Given the description of an element on the screen output the (x, y) to click on. 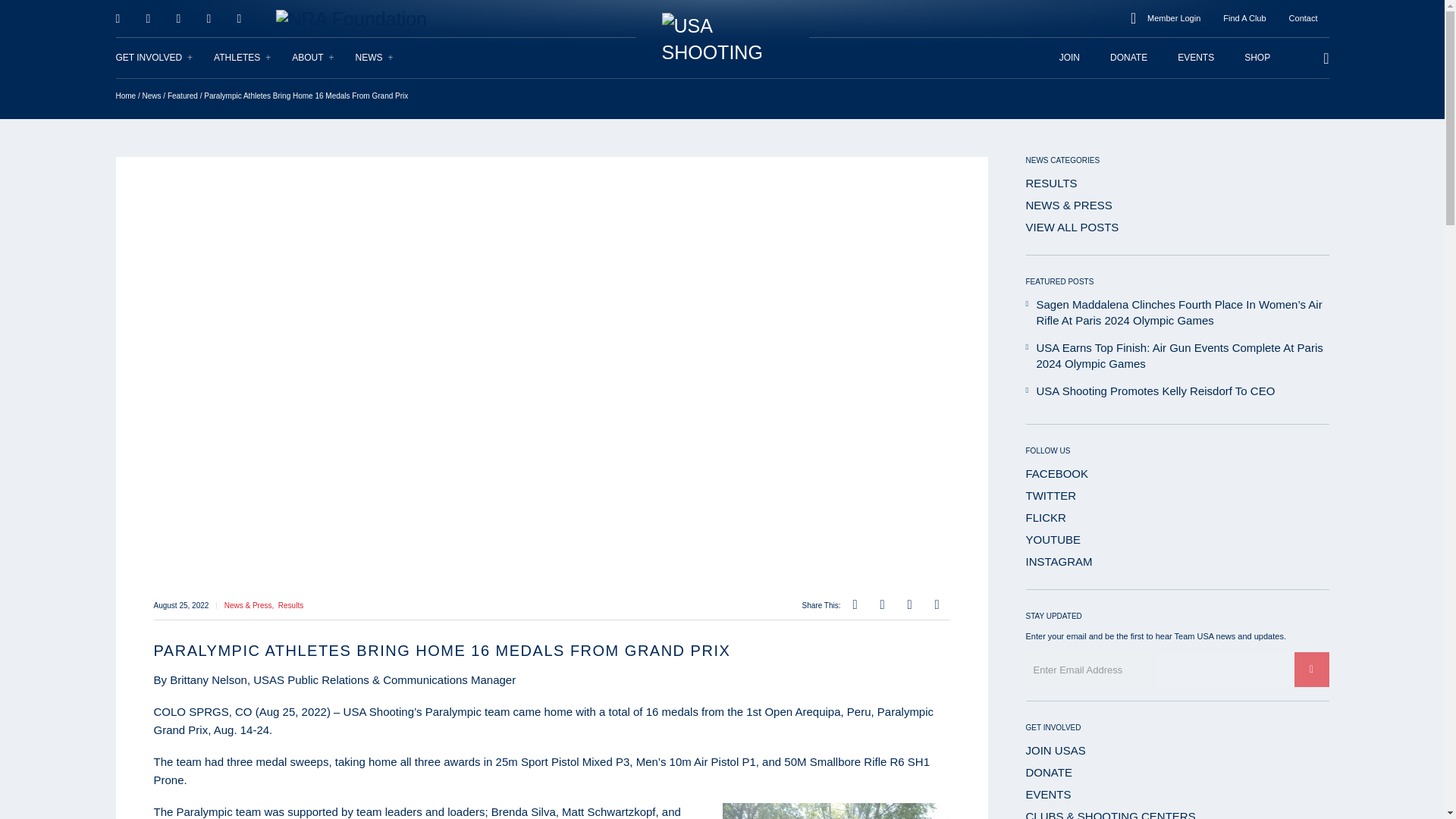
NEWS (374, 57)
ABOUT (313, 57)
Find A Club (1244, 18)
Contact (1302, 18)
Member Login (1173, 18)
JOIN (1069, 57)
GET INVOLVED (154, 57)
ATHLETES (242, 57)
